Given the description of an element on the screen output the (x, y) to click on. 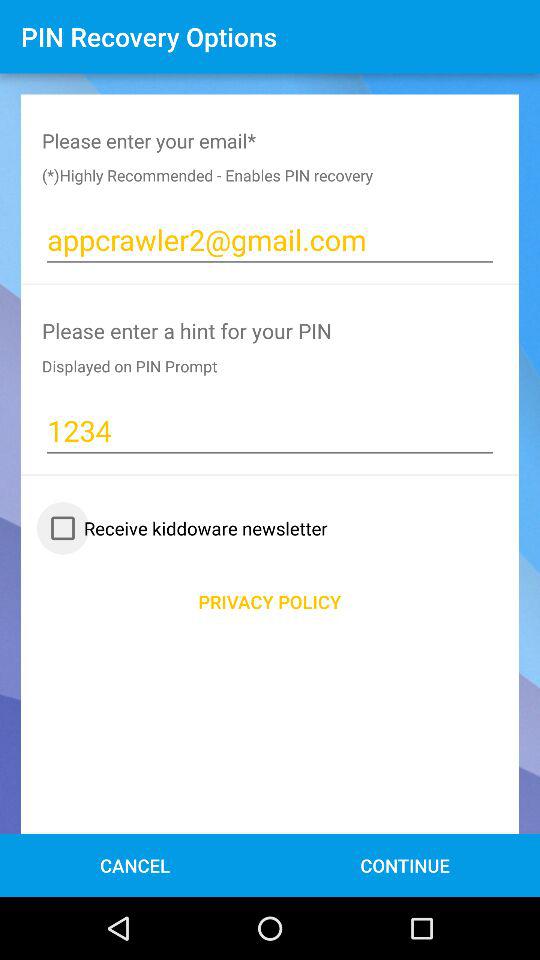
swipe to the 1234 item (269, 430)
